Given the description of an element on the screen output the (x, y) to click on. 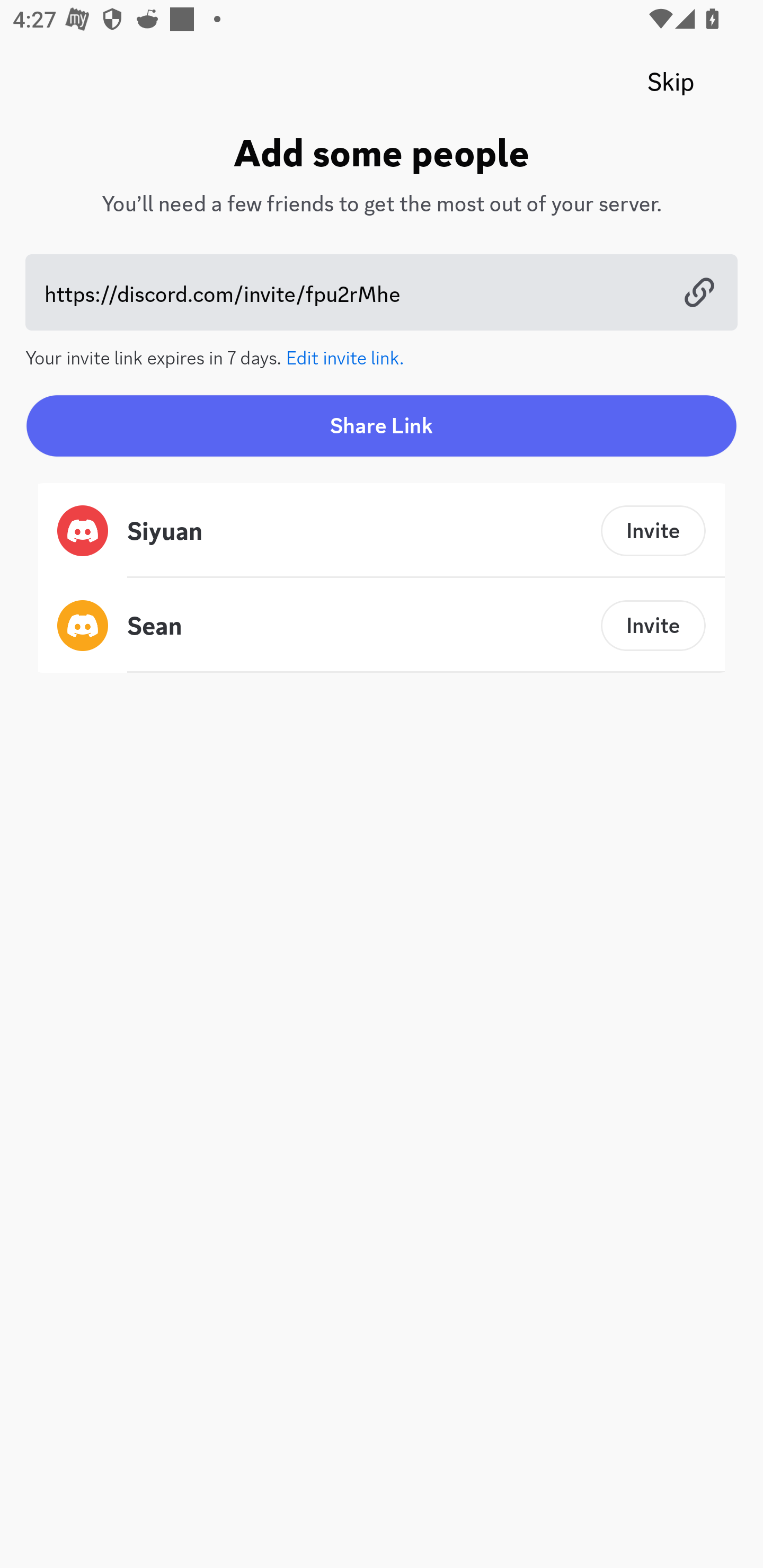
Skip (670, 82)
Search (373, 165)
Copy Link https://discord.com/invite/fpu2rMhe (381, 292)
Share Link (381, 425)
holiday-plans (text channel) holiday-plans (413, 518)
Invite (653, 530)
Invite (653, 625)
